Given the description of an element on the screen output the (x, y) to click on. 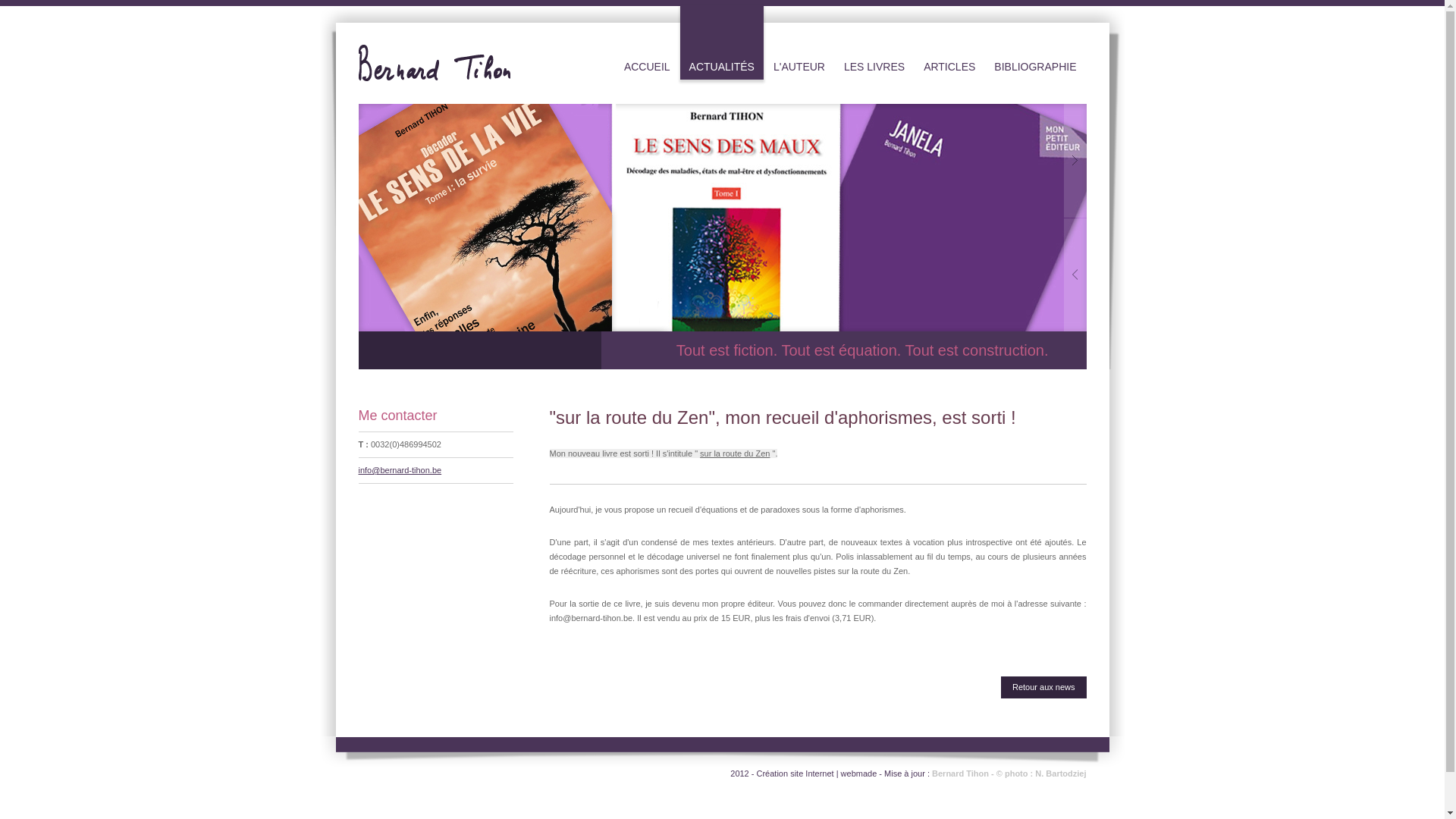
Prev Element type: text (1074, 274)
Retour aux news Element type: text (1043, 687)
LES LIVRES Element type: text (873, 41)
Next Element type: text (1074, 160)
ARTICLES Element type: text (949, 41)
L'AUTEUR Element type: text (799, 41)
info@bernard-tihon.be Element type: text (399, 469)
ACCUEIL Element type: text (647, 41)
BIBLIOGRAPHIE Element type: text (1035, 41)
